Given the description of an element on the screen output the (x, y) to click on. 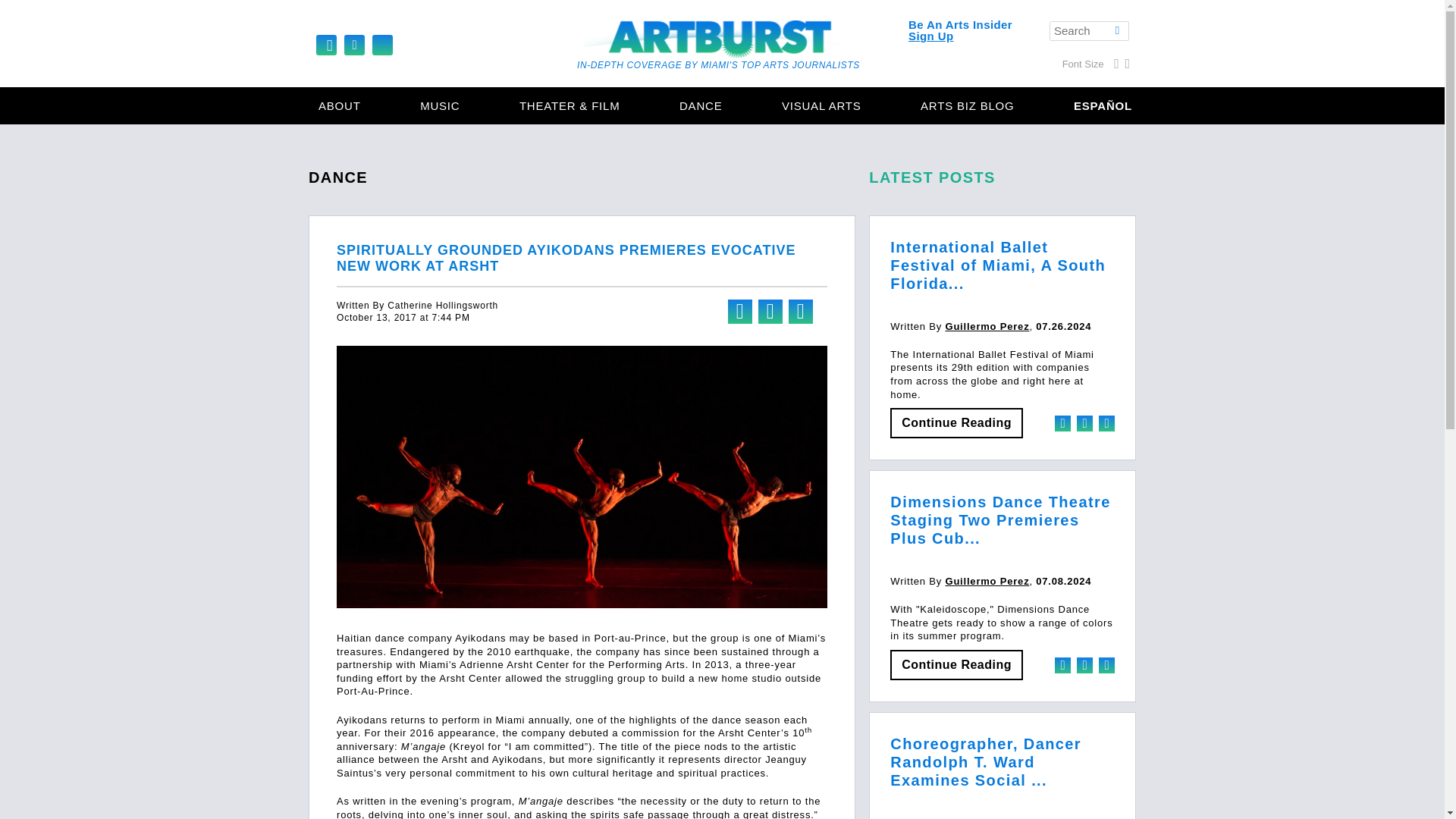
ARTS BIZ BLOG (967, 105)
Sign Up (930, 35)
Guillermo Perez (986, 326)
DANCE (700, 105)
Dimensions Dance Theatre Staging Two Premieres Plus Cub... (999, 520)
Sean Erwin (974, 818)
Choreographer, Dancer Randolph T. Ward Examines Social ... (985, 761)
ABOUT (339, 105)
Guillermo Perez (986, 581)
International Ballet Festival of Miami, A South Florida... (997, 265)
